Given the description of an element on the screen output the (x, y) to click on. 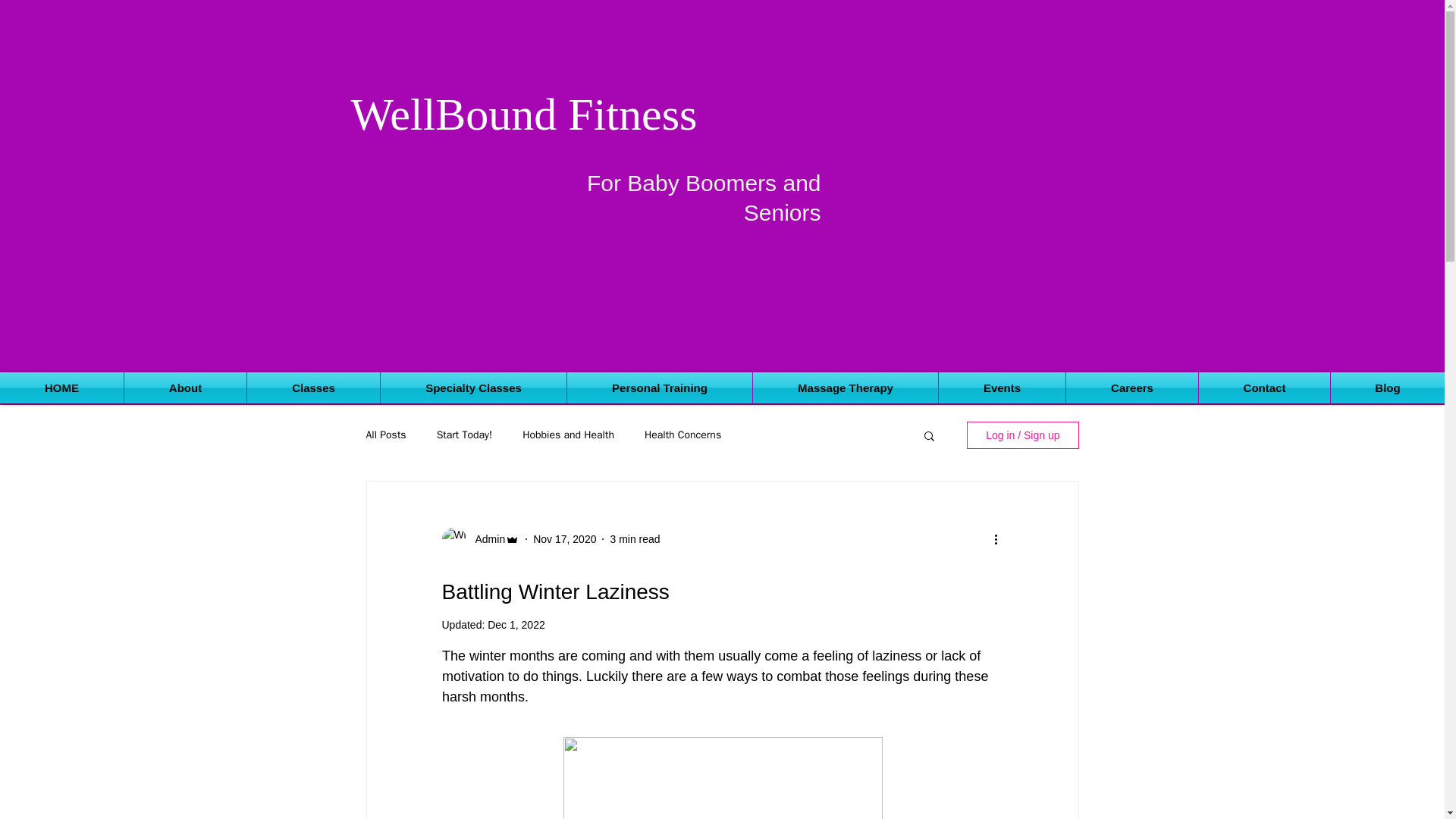
Massage Therapy (844, 387)
Start Today! (464, 435)
About (184, 387)
Hobbies and Health (568, 435)
Careers (1131, 387)
All Posts (385, 435)
3 min read (634, 538)
Personal Training (659, 387)
Dec 1, 2022 (515, 624)
Health Concerns (682, 435)
